Given the description of an element on the screen output the (x, y) to click on. 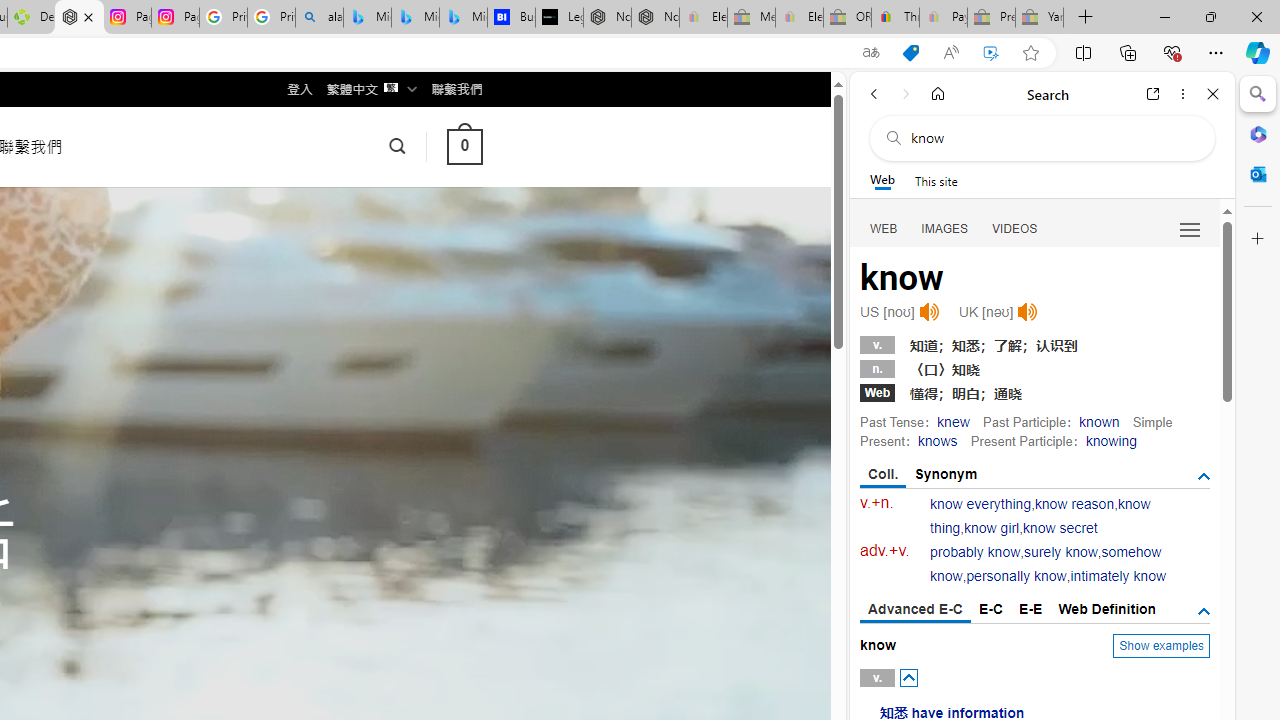
Show translate options (870, 53)
Threats and offensive language policy | eBay (895, 17)
AutomationID: tgdef (1203, 611)
Yard, Garden & Outdoor Living - Sleeping (1039, 17)
E-C (991, 608)
AutomationID: posbtn_0 (908, 677)
know reason (1074, 503)
E-E (1030, 608)
knows (936, 440)
This site has coupons! Shopping in Microsoft Edge (910, 53)
